Given the description of an element on the screen output the (x, y) to click on. 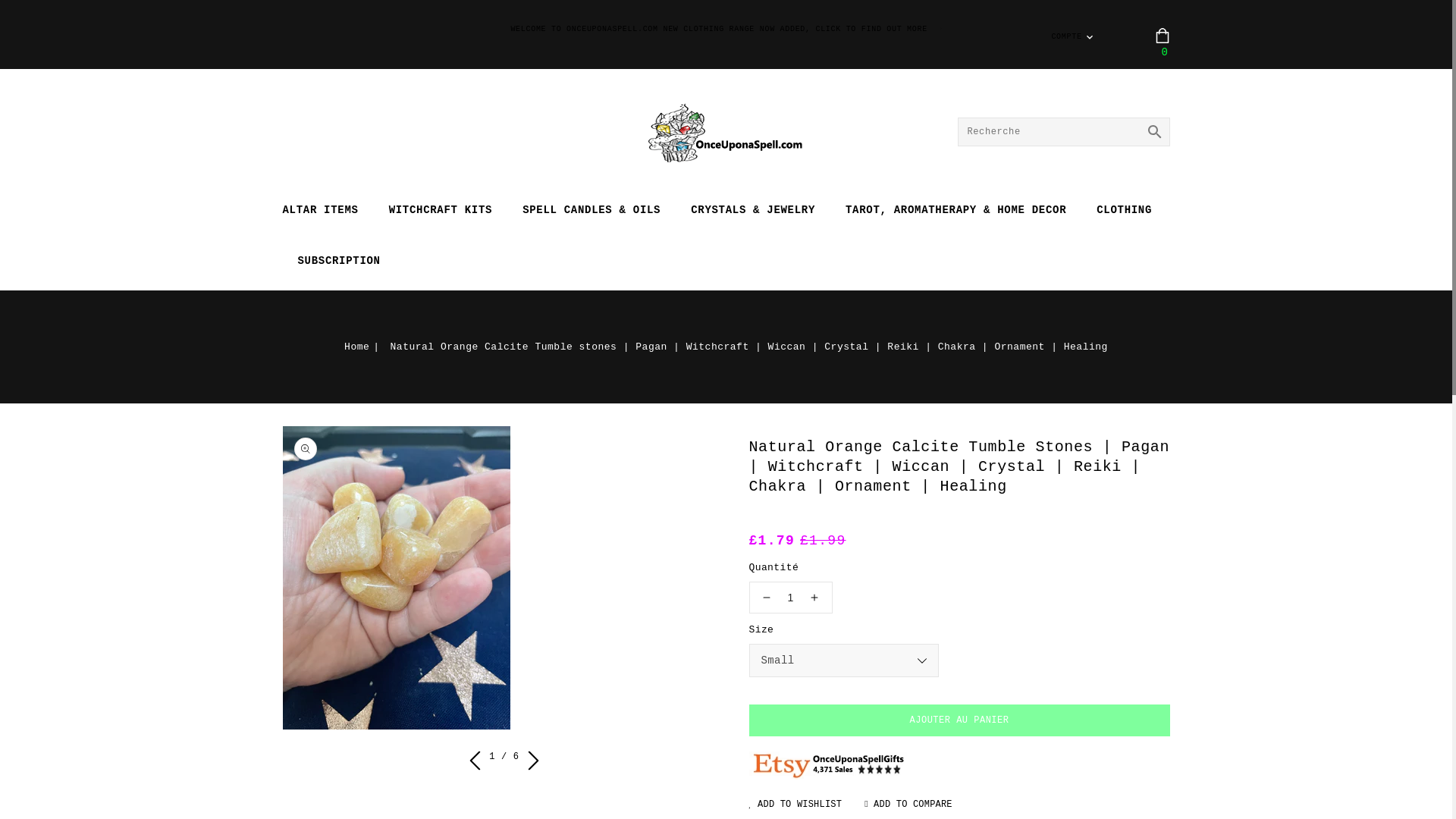
Home (363, 346)
IGNORER ET PASSER AU CONTENU (16, 7)
1 (790, 597)
